Given the description of an element on the screen output the (x, y) to click on. 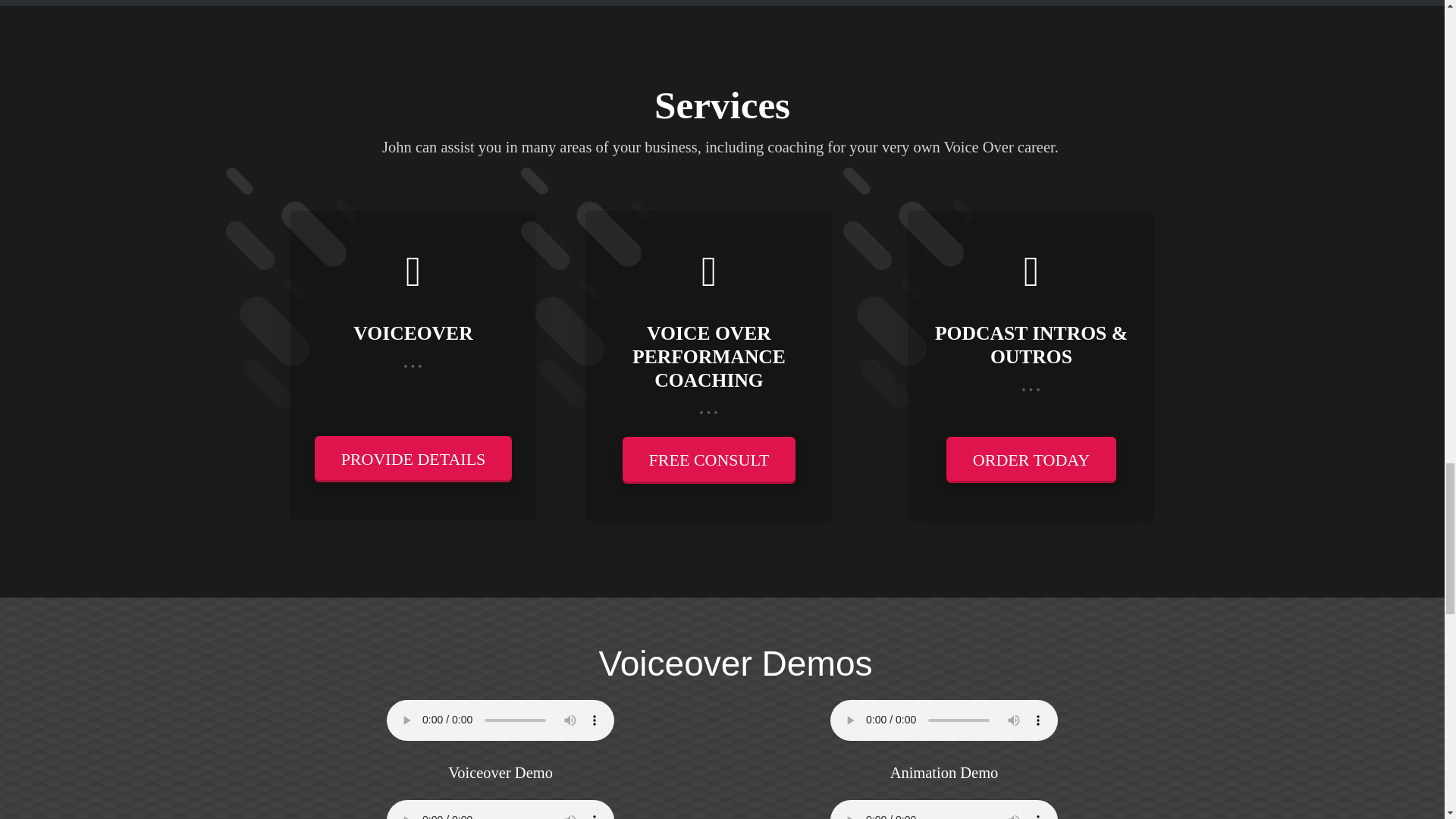
PROVIDE DETAILS (413, 458)
FREE CONSULT (709, 459)
ORDER TODAY (1031, 459)
